Given the description of an element on the screen output the (x, y) to click on. 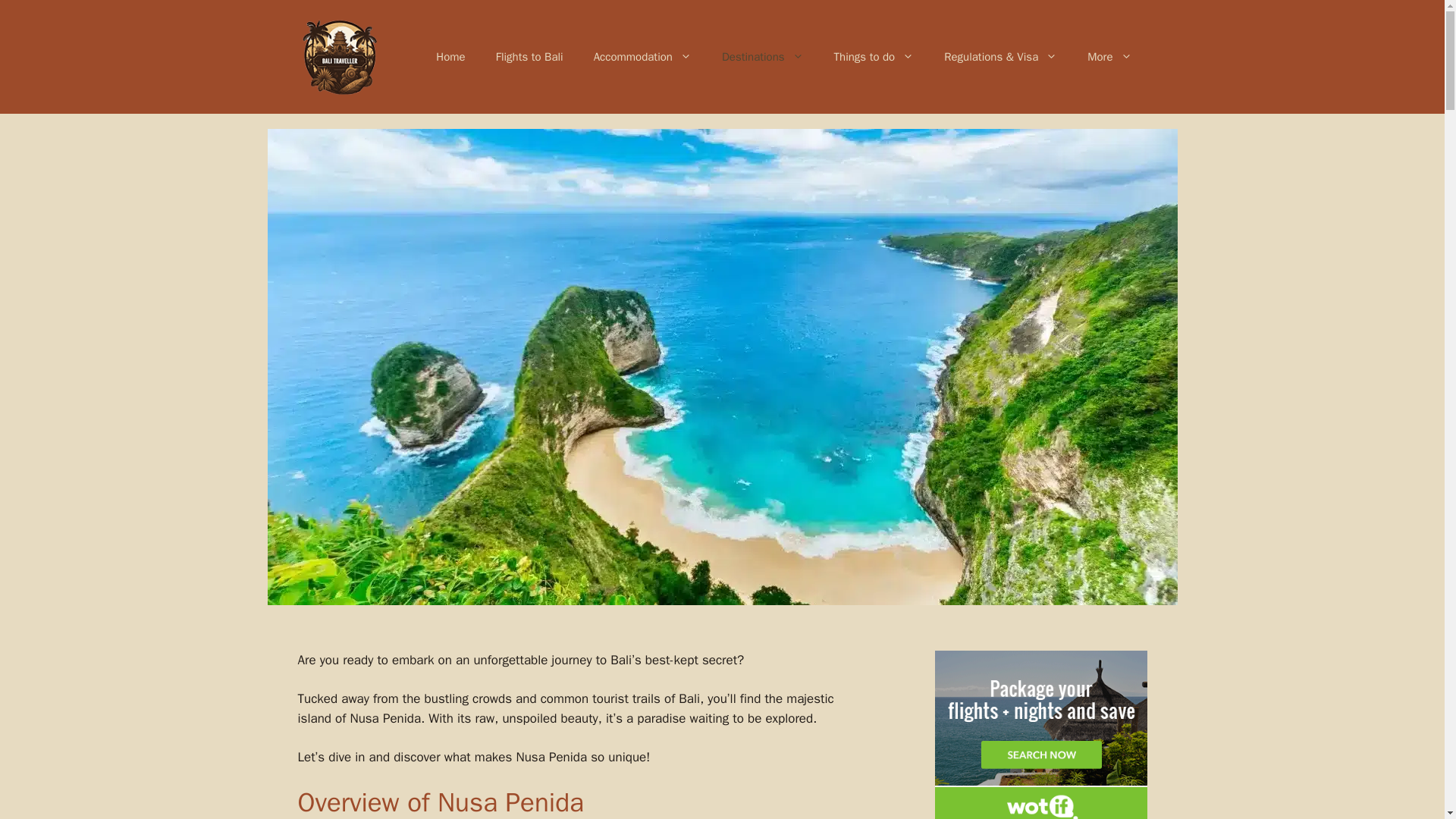
Accommodation (642, 56)
Flights to Bali (529, 56)
Destinations (762, 56)
Home (450, 56)
Things to do (874, 56)
